Given the description of an element on the screen output the (x, y) to click on. 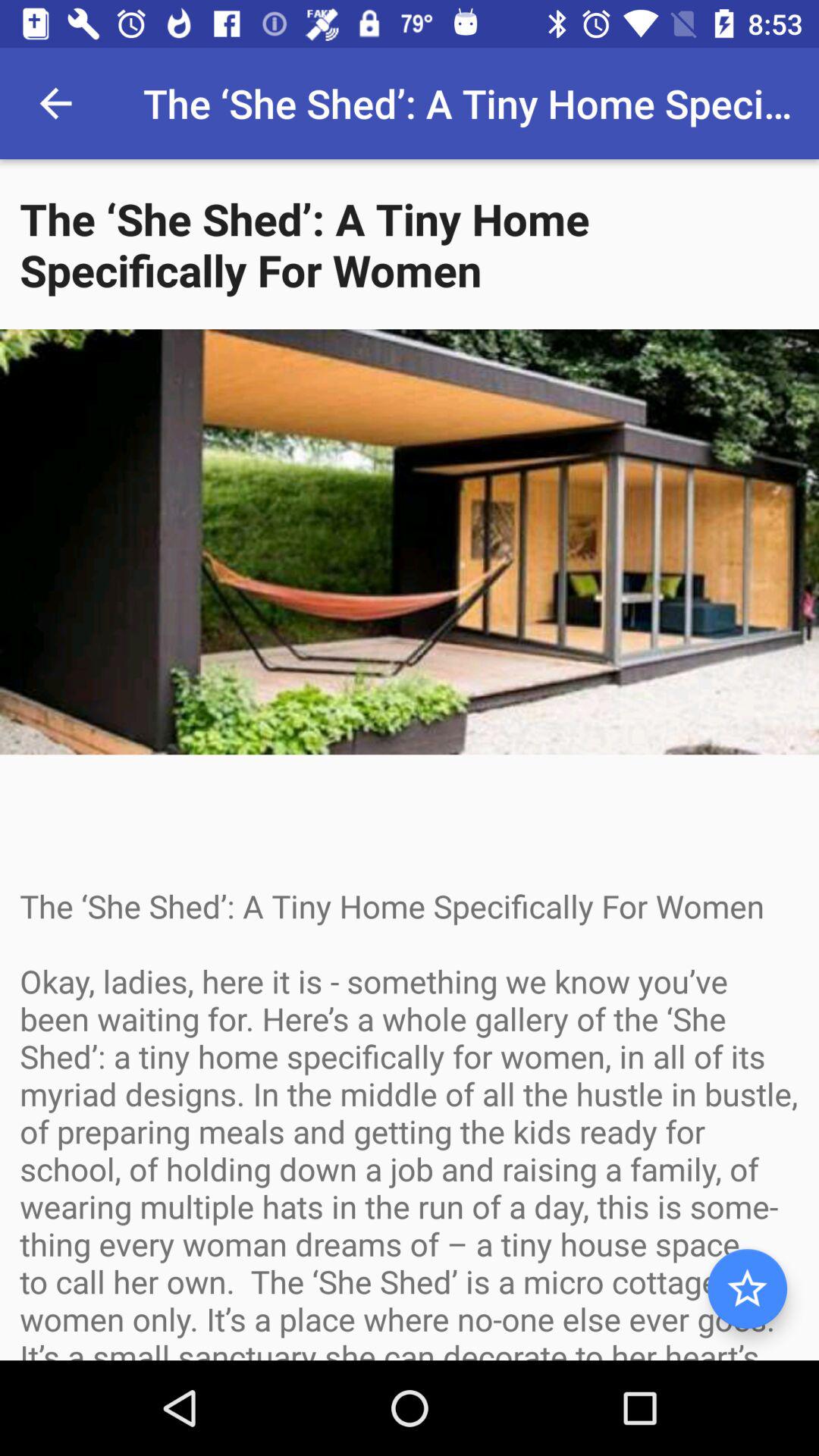
click the icon at the bottom right corner (747, 1288)
